Given the description of an element on the screen output the (x, y) to click on. 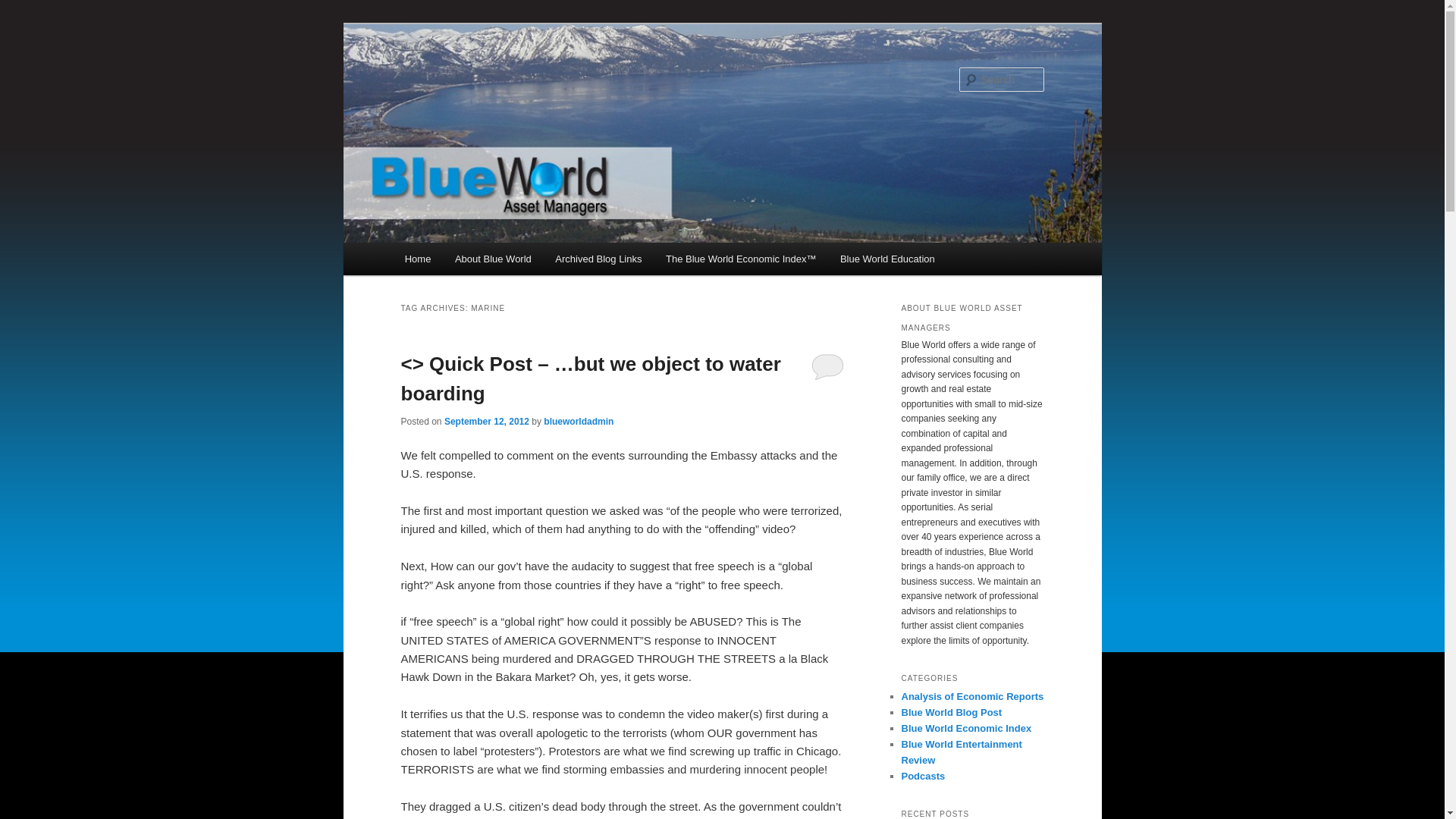
Archived Blog Links (598, 258)
Blue World Entertainment Review (961, 751)
Blue World Education (887, 258)
Blue World Blog Post (951, 712)
Podcasts (922, 776)
blueworldadmin (577, 420)
Blue World Economic Index (965, 727)
View all posts by blueworldadmin (577, 420)
Analysis of Economic Reports (972, 696)
8:17 am (486, 420)
September 12, 2012 (486, 420)
Search (24, 8)
Home (417, 258)
